Given the description of an element on the screen output the (x, y) to click on. 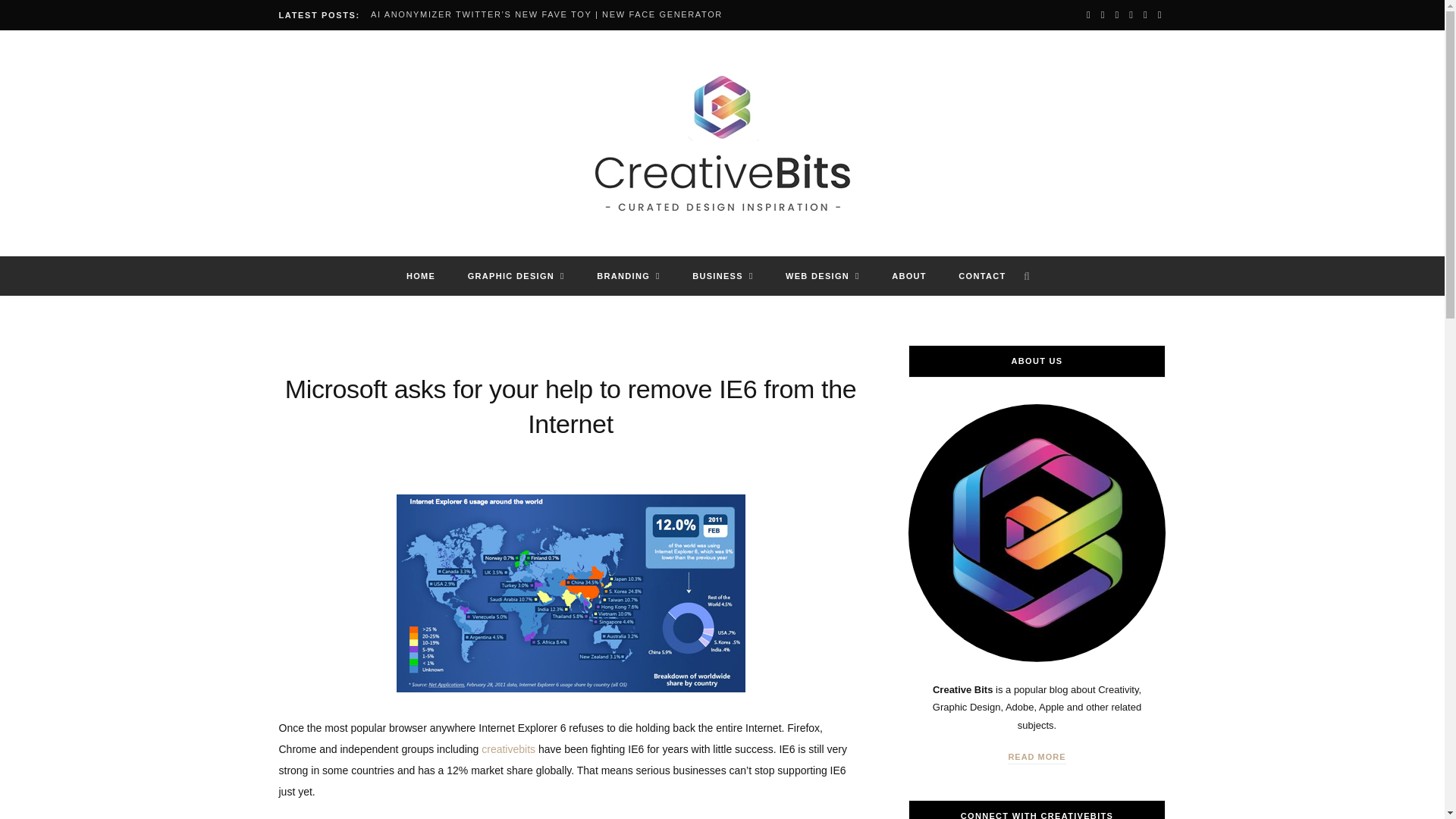
Creative Bits (722, 143)
HOME (420, 275)
GRAPHIC DESIGN (515, 275)
